Given the description of an element on the screen output the (x, y) to click on. 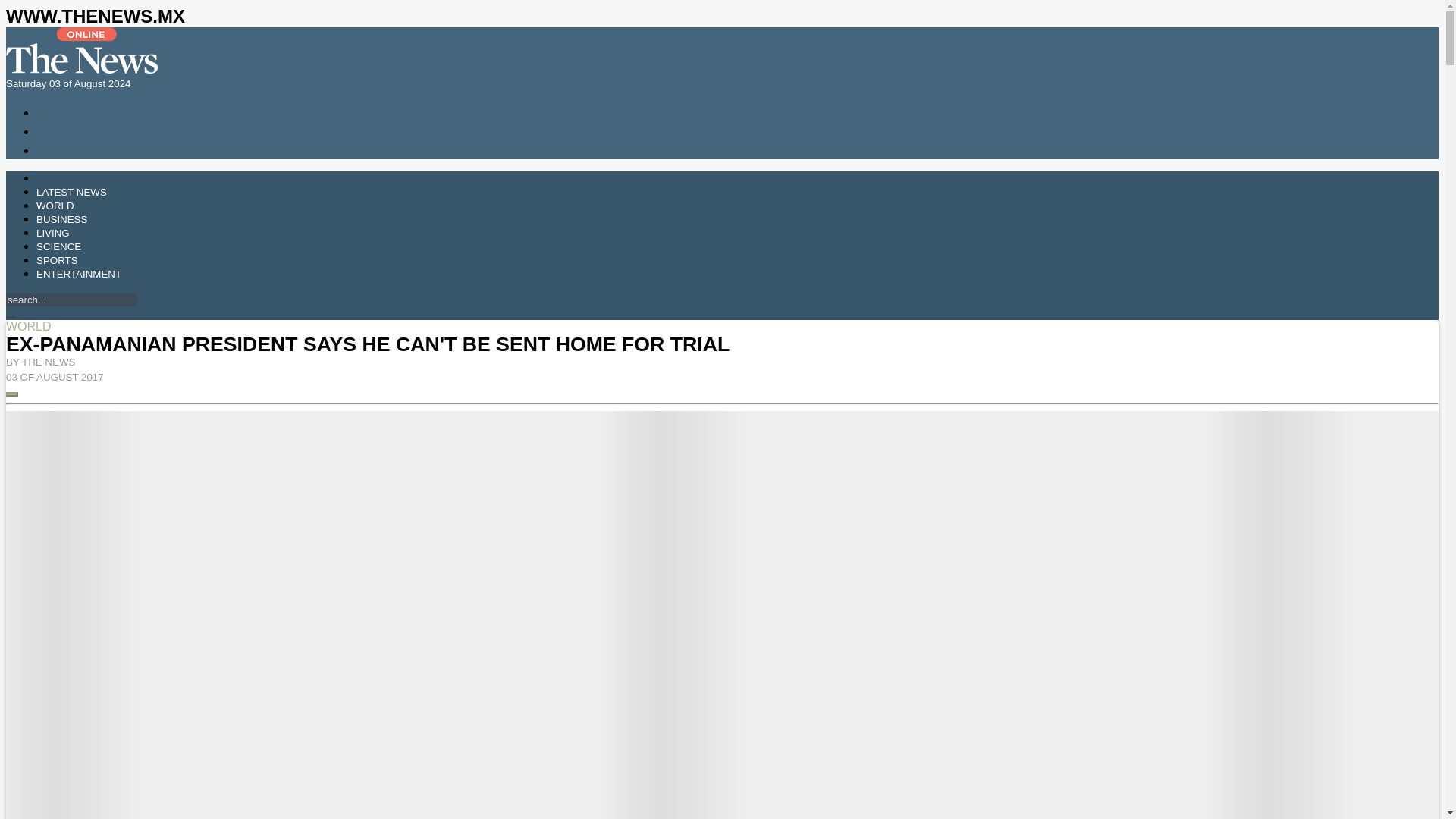
Entertainment (78, 274)
The News (81, 69)
THE NEWS (48, 361)
Sports (57, 260)
Latest News (71, 192)
The News (81, 50)
Living (52, 233)
ENTERTAINMENT (78, 274)
WORLD (55, 205)
LATEST NEWS (71, 192)
World (55, 205)
Business (61, 219)
SPORTS (57, 260)
BUSINESS (61, 219)
LIVING (52, 233)
